Given the description of an element on the screen output the (x, y) to click on. 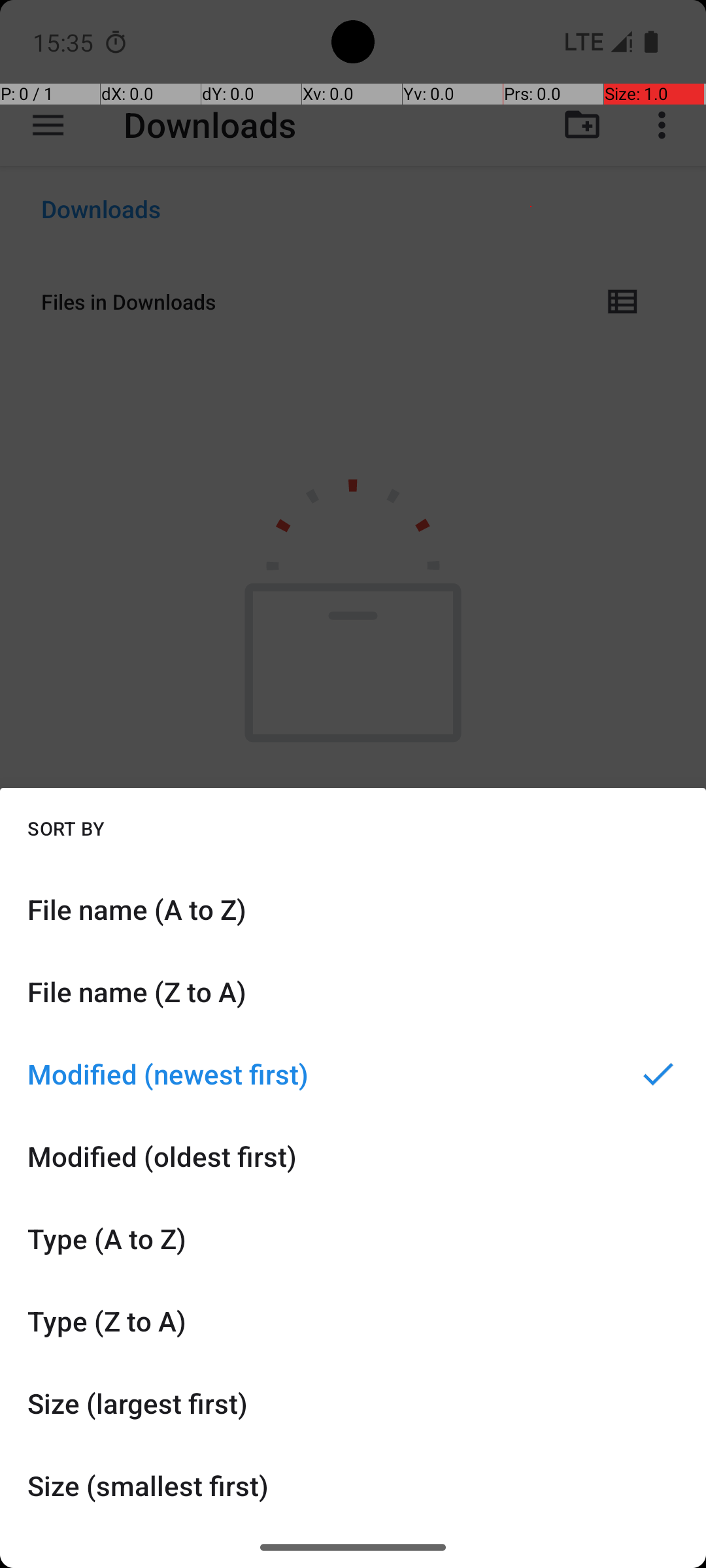
SORT BY Element type: android.widget.TextView (66, 827)
File name (A to Z) Element type: android.widget.CheckedTextView (353, 909)
File name (Z to A) Element type: android.widget.CheckedTextView (353, 991)
Modified (newest first) Element type: android.widget.CheckedTextView (353, 1073)
Modified (oldest first) Element type: android.widget.CheckedTextView (353, 1156)
Type (A to Z) Element type: android.widget.CheckedTextView (353, 1238)
Type (Z to A) Element type: android.widget.CheckedTextView (353, 1320)
Size (largest first) Element type: android.widget.CheckedTextView (353, 1403)
Size (smallest first) Element type: android.widget.CheckedTextView (353, 1485)
